Given the description of an element on the screen output the (x, y) to click on. 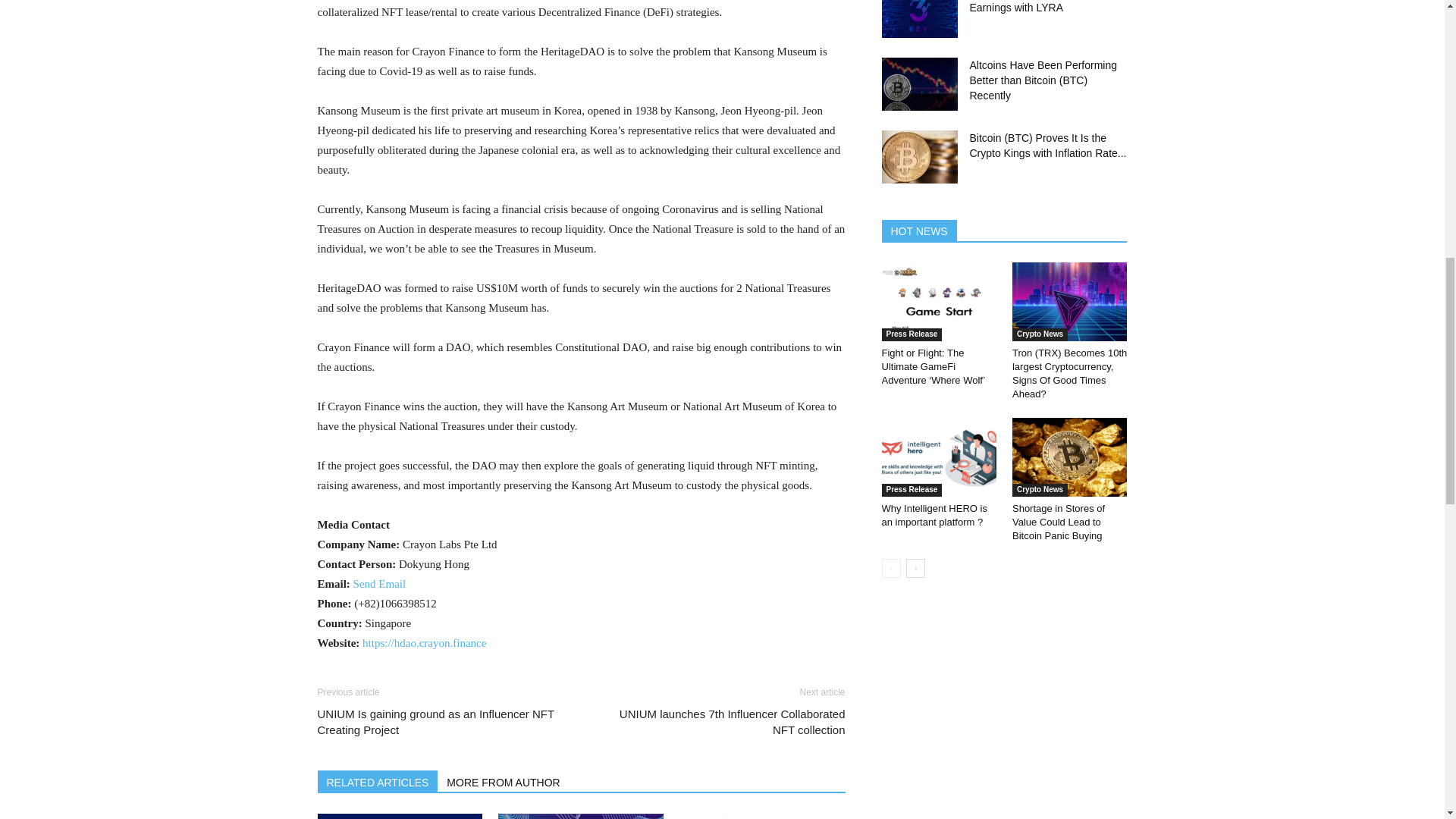
UNIUM launches 7th Influencer Collaborated NFT collection (721, 721)
Send Email (379, 583)
